Given the description of an element on the screen output the (x, y) to click on. 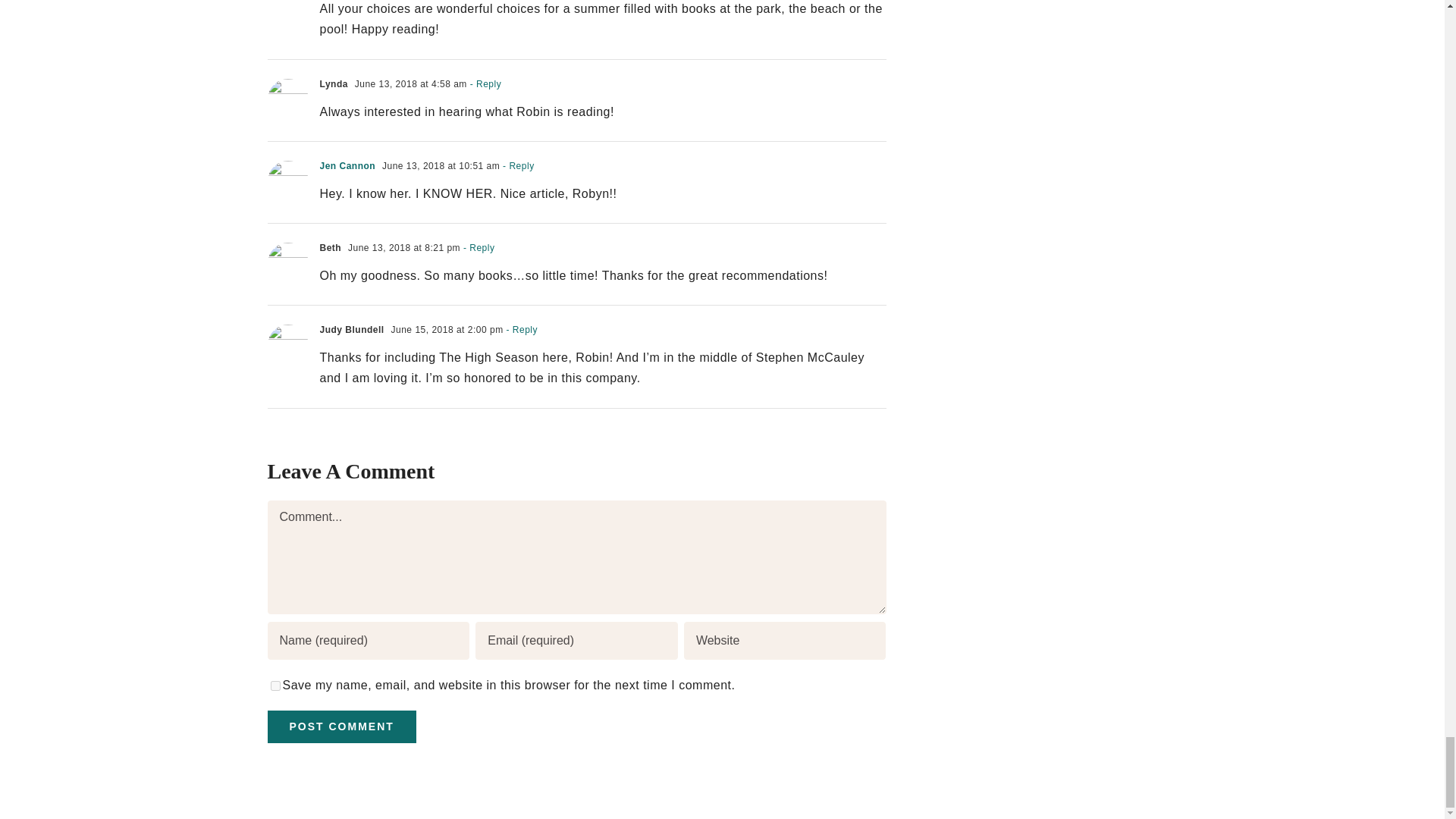
Post Comment (340, 726)
yes (274, 685)
